Given the description of an element on the screen output the (x, y) to click on. 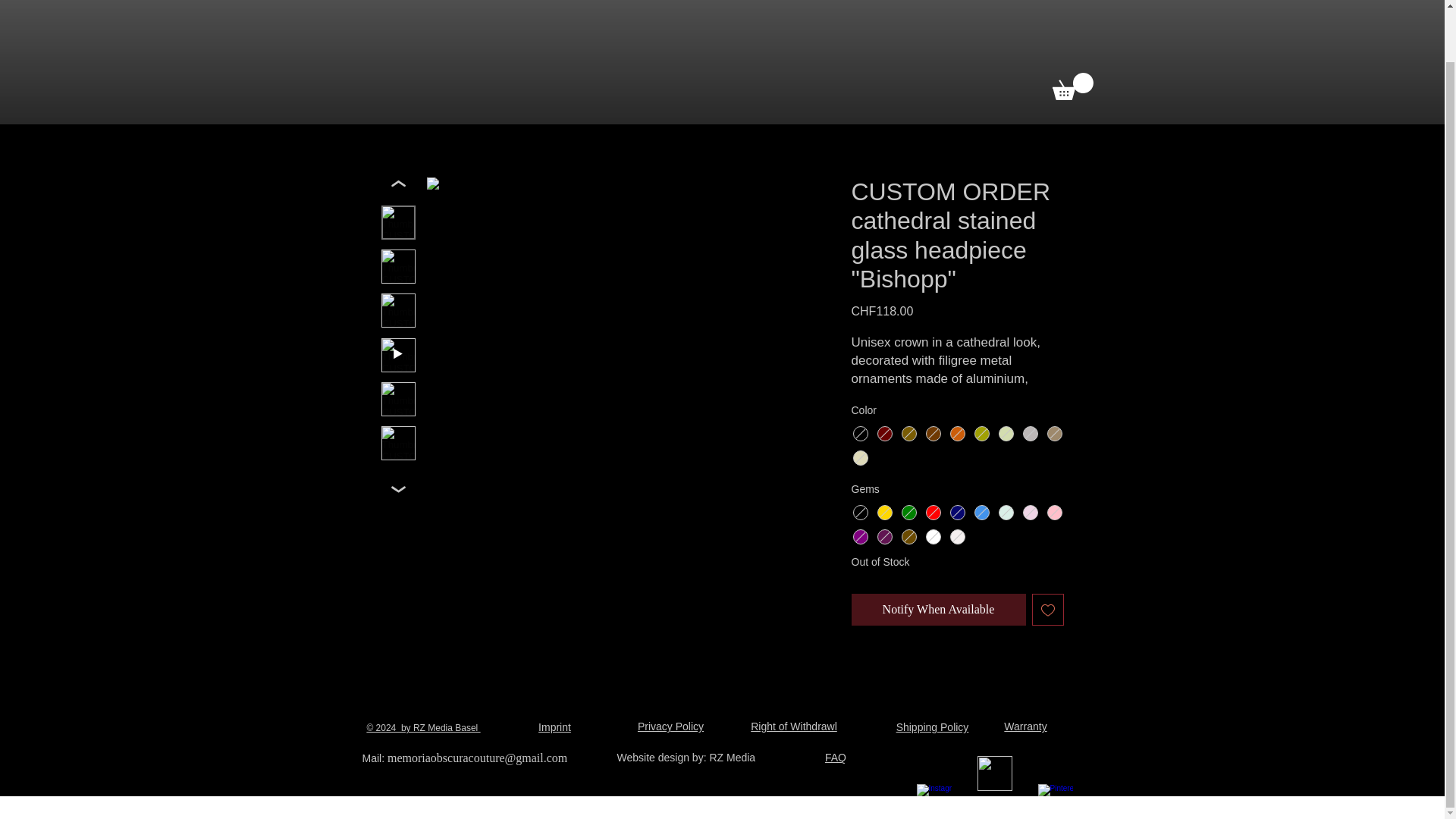
FAQ (835, 757)
Notify When Available (937, 609)
Shipping Policy (932, 727)
Right of Withdrawl (794, 726)
Privacy Policy (670, 726)
Imprint (554, 727)
Warranty (1025, 726)
